Given the description of an element on the screen output the (x, y) to click on. 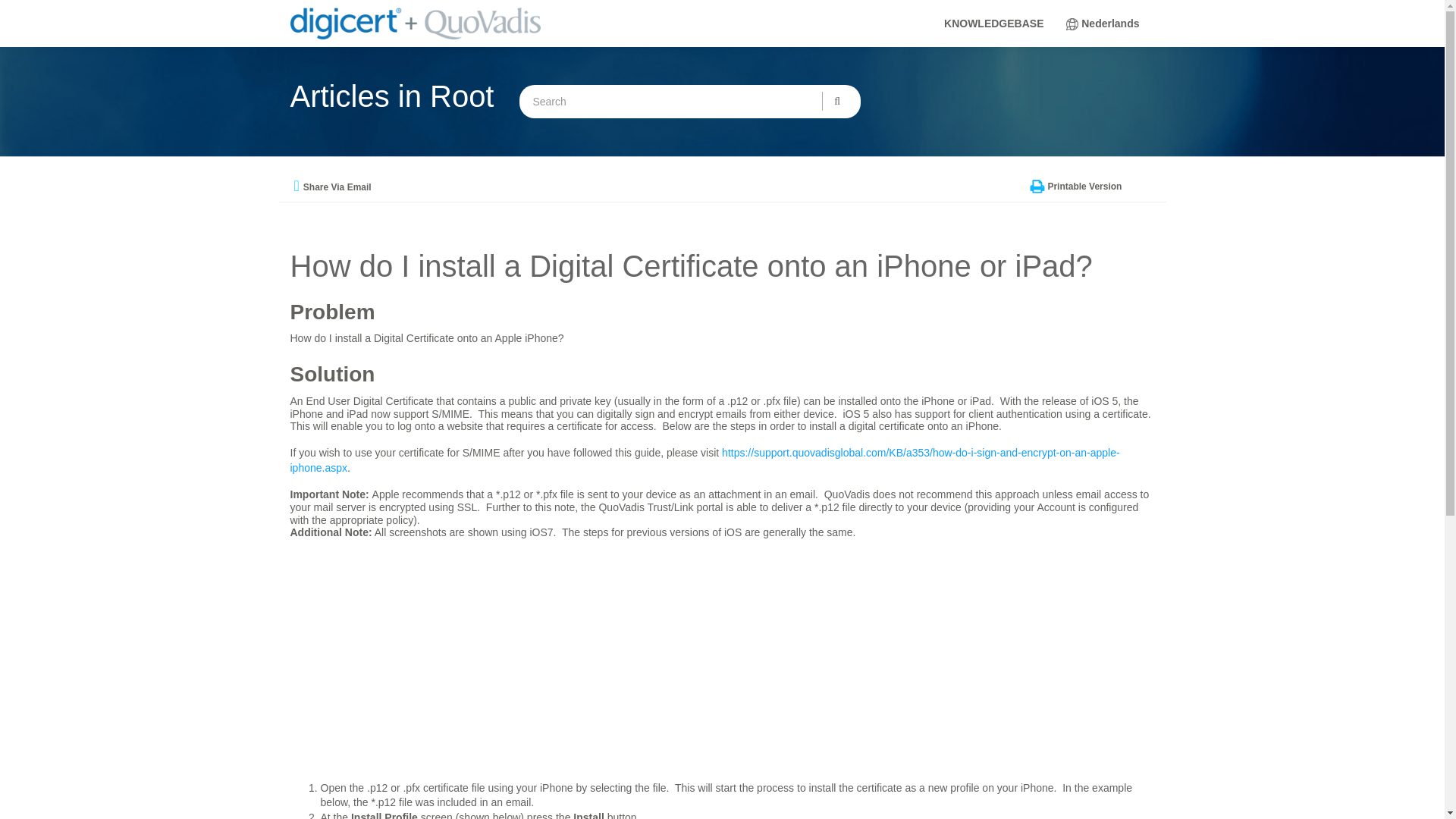
Printable Version (1083, 185)
KNOWLEDGEBASE (993, 23)
Nederlands (1109, 31)
Share Via Email (336, 186)
